Given the description of an element on the screen output the (x, y) to click on. 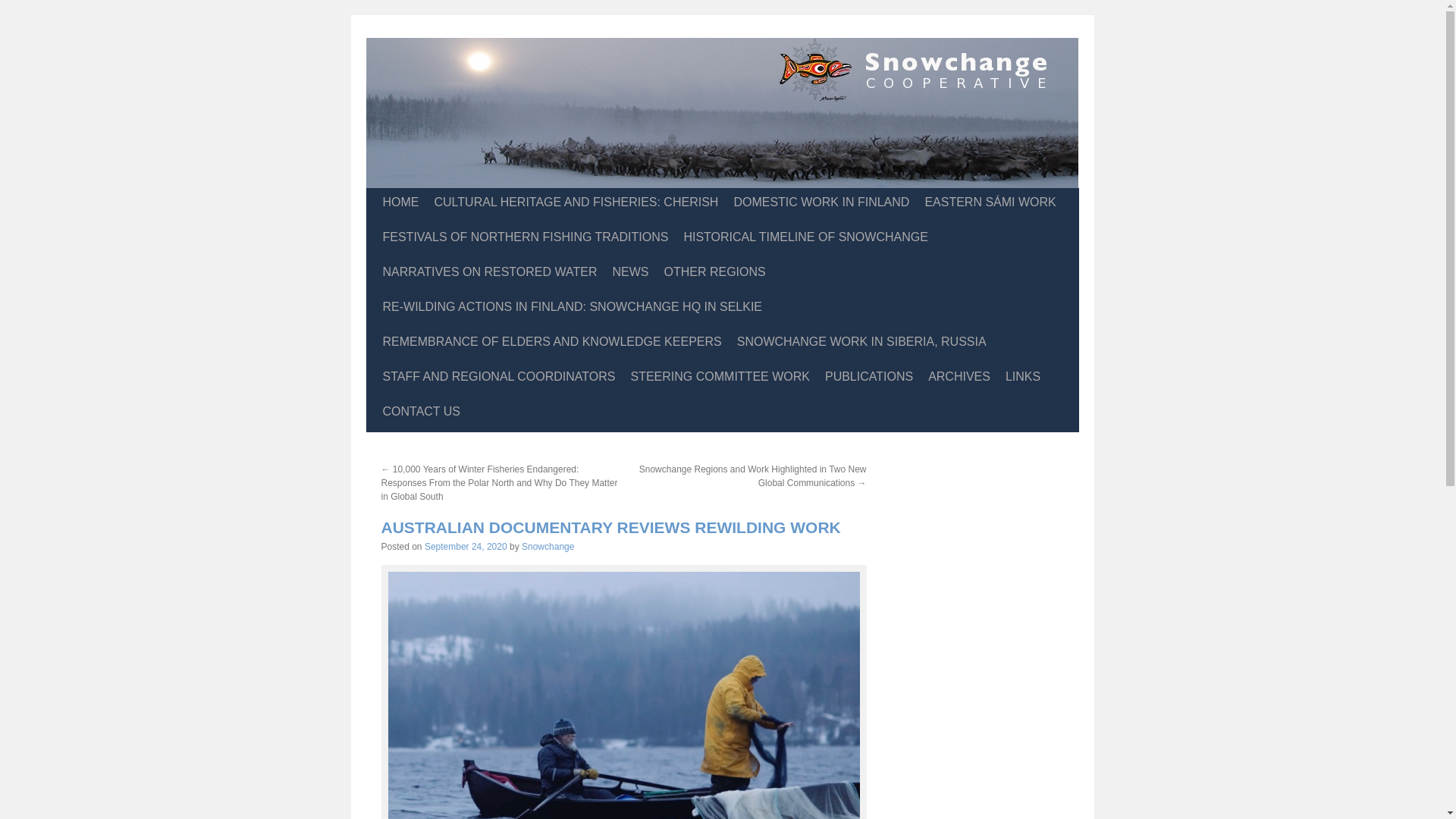
STEERING COMMITTEE WORK (719, 376)
NEWS (630, 271)
September 24, 2020 (465, 546)
View all posts by Snowchange (547, 546)
OTHER REGIONS (714, 271)
REMEMBRANCE OF ELDERS AND KNOWLEDGE KEEPERS (551, 341)
RE-WILDING ACTIONS IN FINLAND: SNOWCHANGE HQ IN SELKIE (572, 306)
PUBLICATIONS (868, 376)
SNOWCHANGE WORK IN SIBERIA, RUSSIA (861, 341)
NARRATIVES ON RESTORED WATER (489, 271)
